Given the description of an element on the screen output the (x, y) to click on. 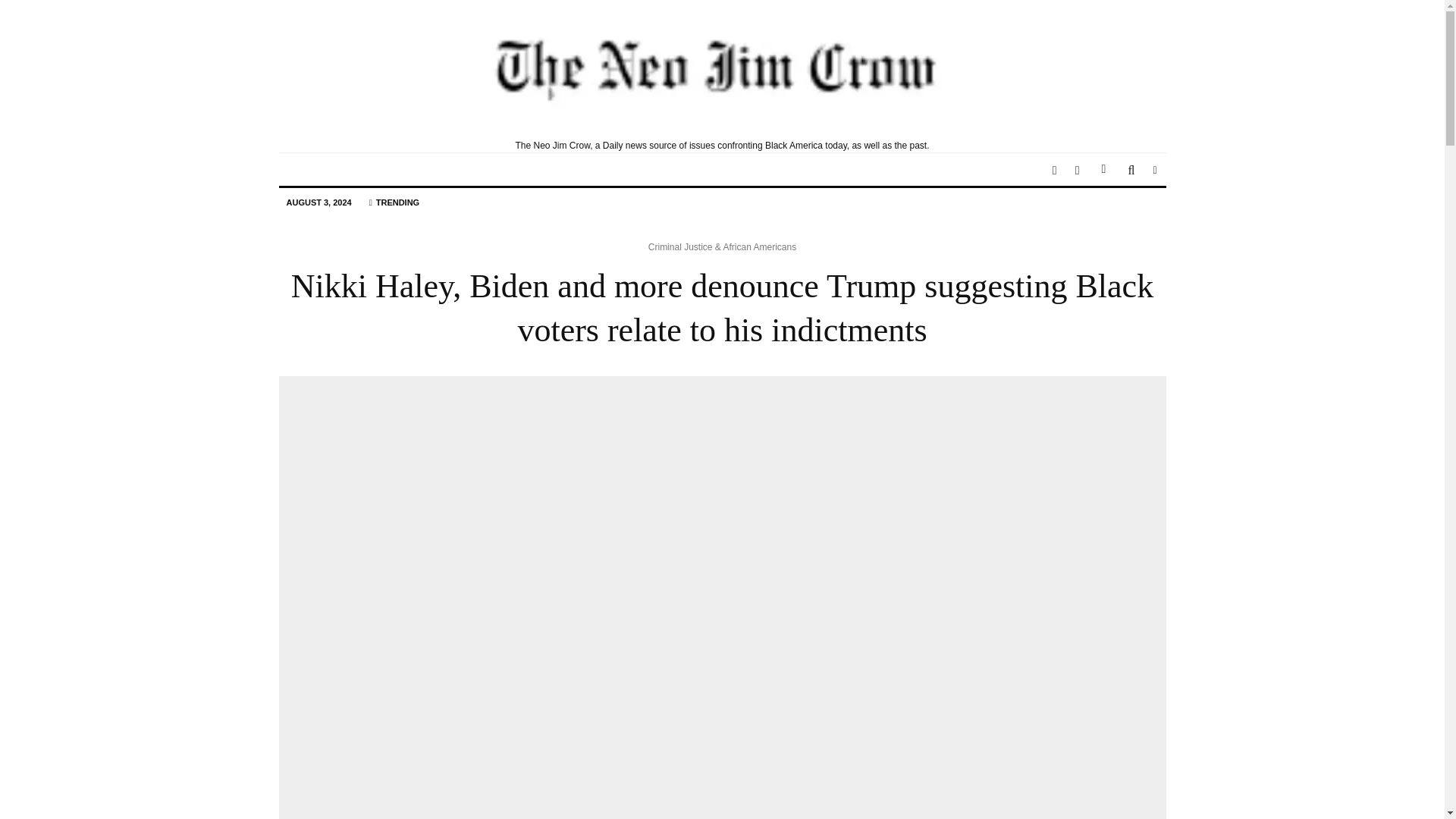
TRENDING (394, 202)
